Given the description of an element on the screen output the (x, y) to click on. 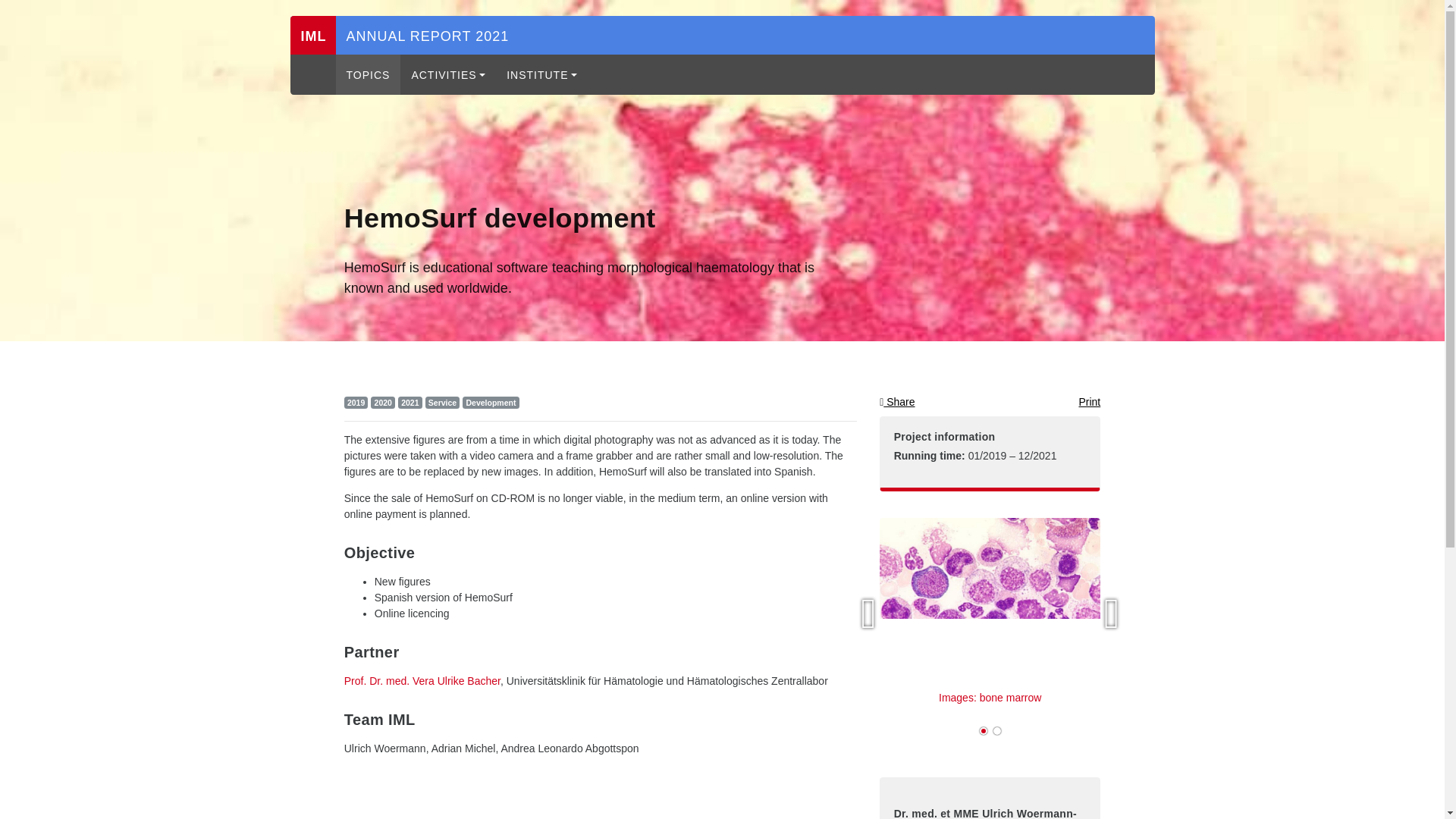
Activities (448, 74)
IML (311, 35)
Share (896, 401)
ACTIVITIES (448, 74)
Print (1089, 401)
ANNUAL REPORT 2021 (427, 36)
Topics (367, 74)
Prof. Dr. med. Vera Ulrike Bacher (421, 680)
Institute (542, 74)
Images: bone marrow (989, 616)
INSTITUTE (542, 74)
TOPICS (367, 74)
